Given the description of an element on the screen output the (x, y) to click on. 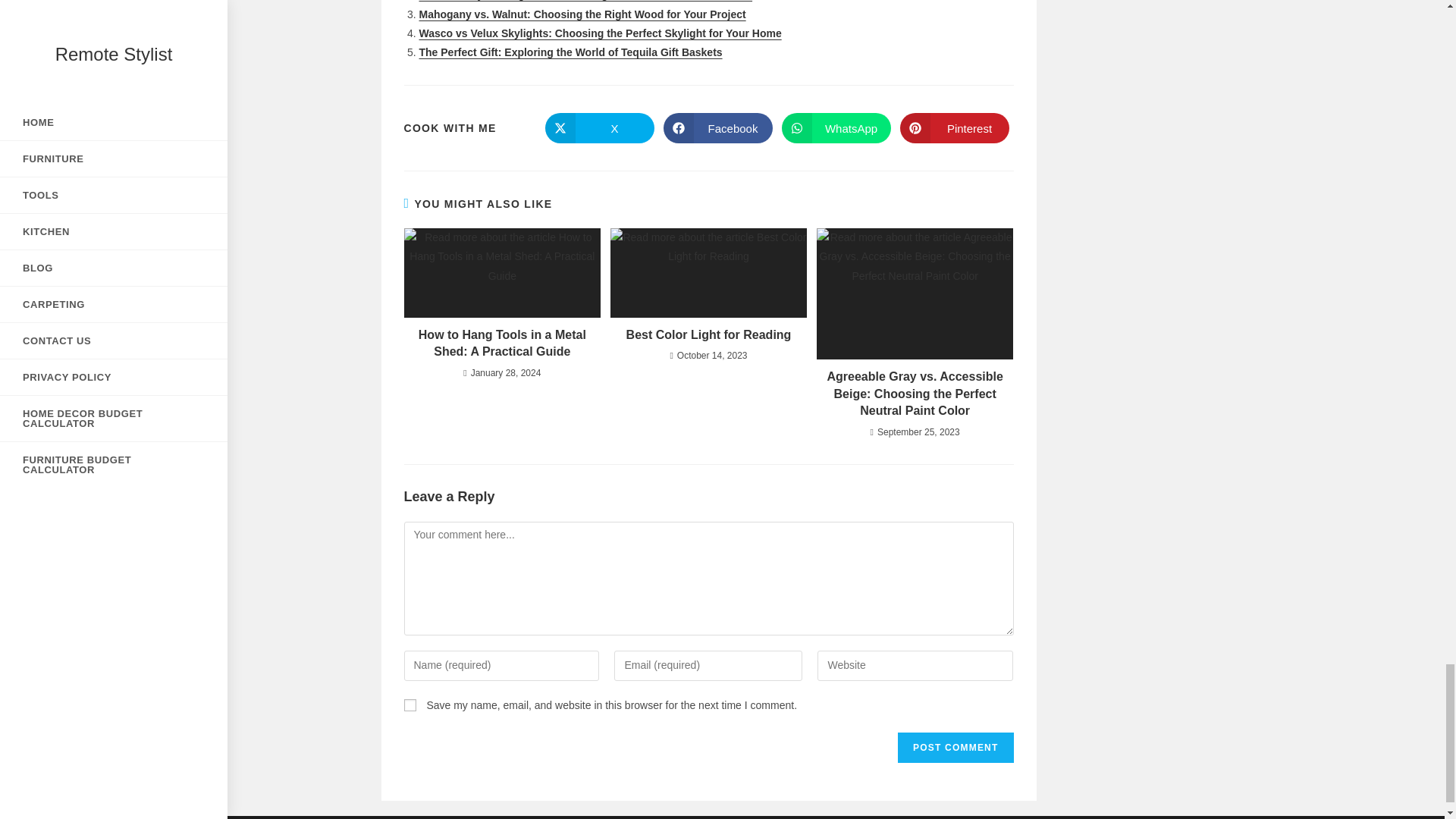
yes (408, 705)
Post Comment (955, 747)
